Given the description of an element on the screen output the (x, y) to click on. 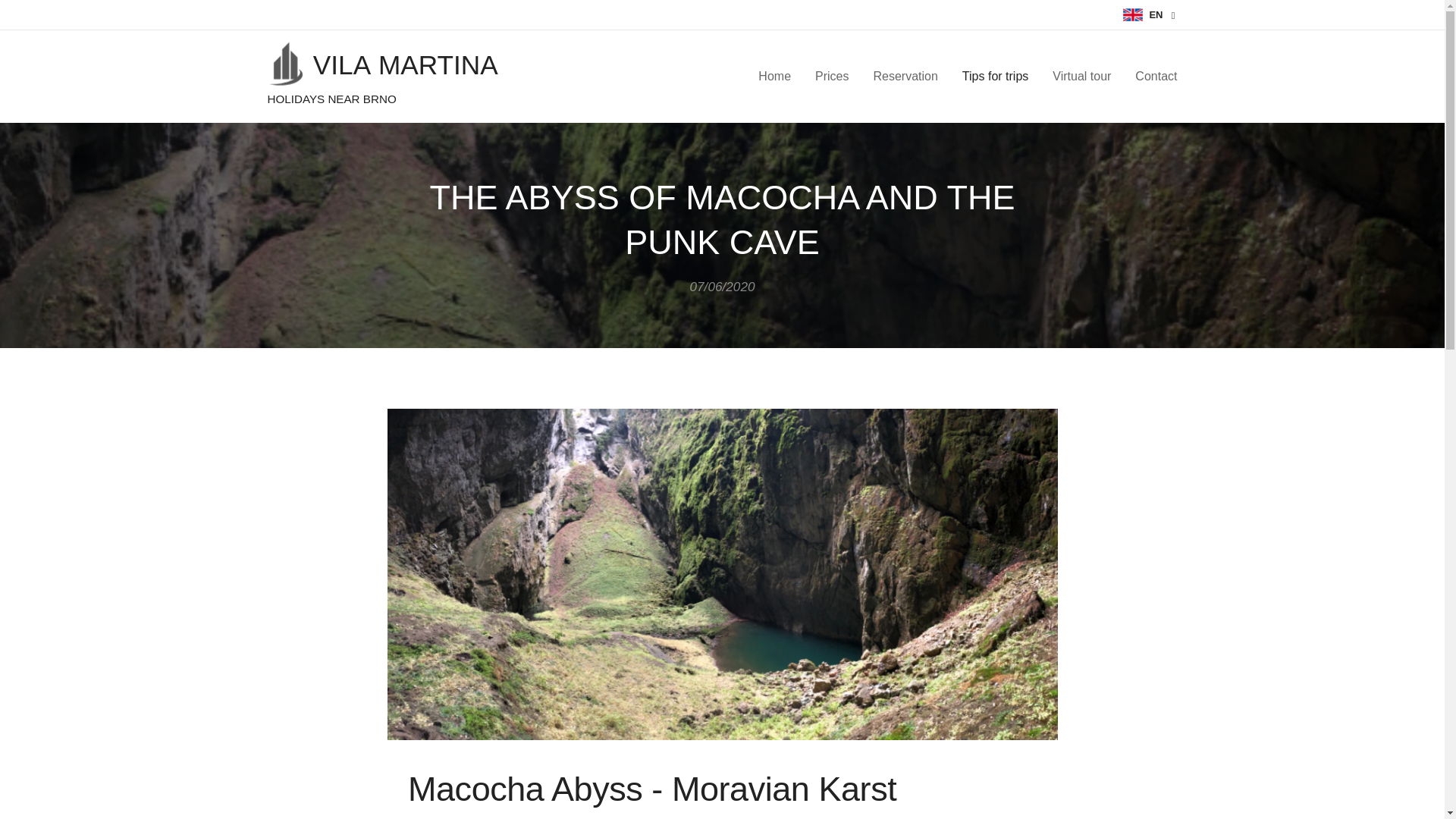
Virtual tour (1081, 76)
VILA MARTINA (384, 63)
Reservation (904, 76)
Prices (831, 76)
Tips for trips (995, 76)
Home (778, 76)
Contact (1149, 76)
